Given the description of an element on the screen output the (x, y) to click on. 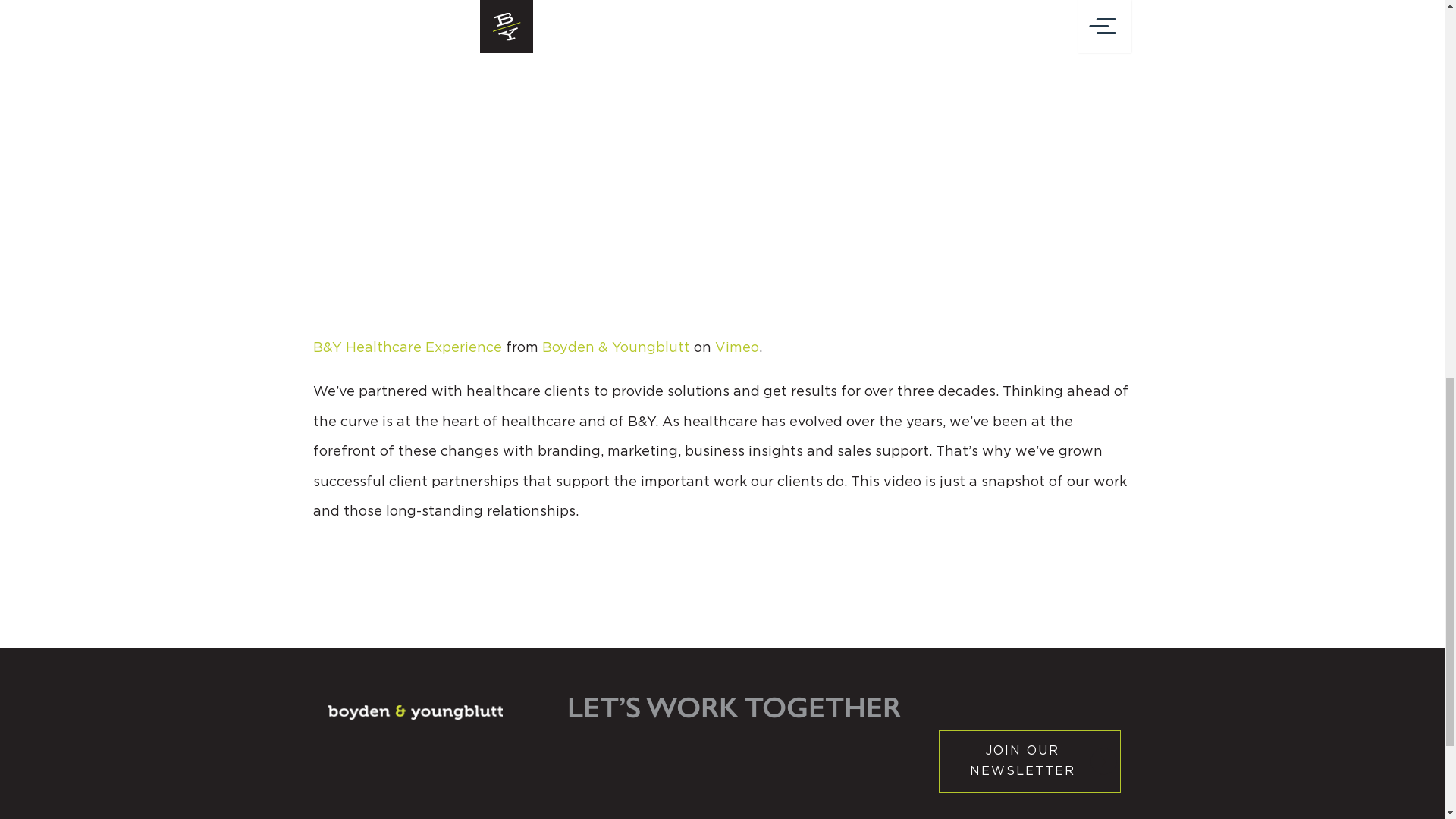
Vimeo (736, 347)
JOIN OUR NEWSLETTER (1030, 761)
